Given the description of an element on the screen output the (x, y) to click on. 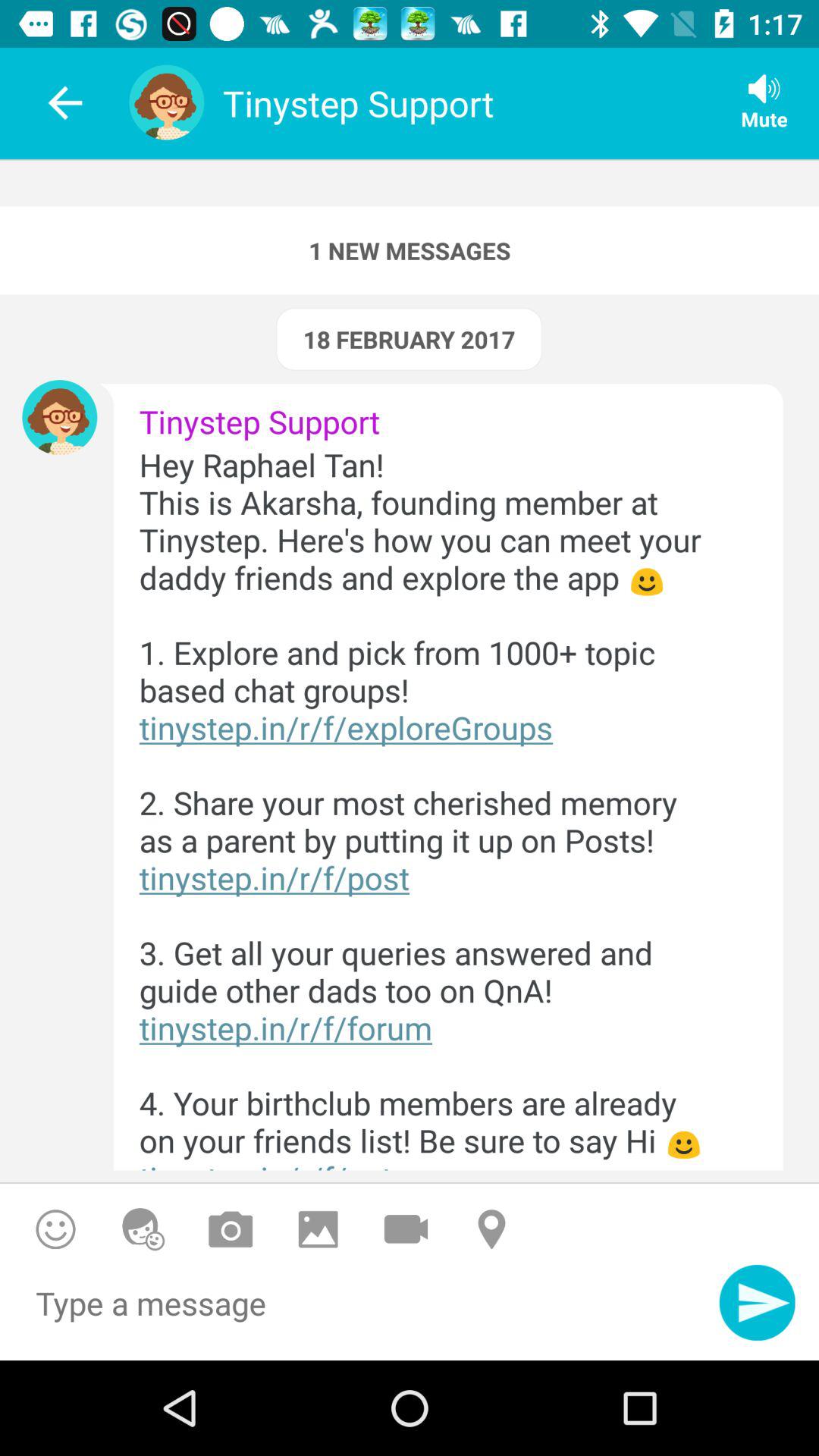
go to gallery (318, 1229)
